Given the description of an element on the screen output the (x, y) to click on. 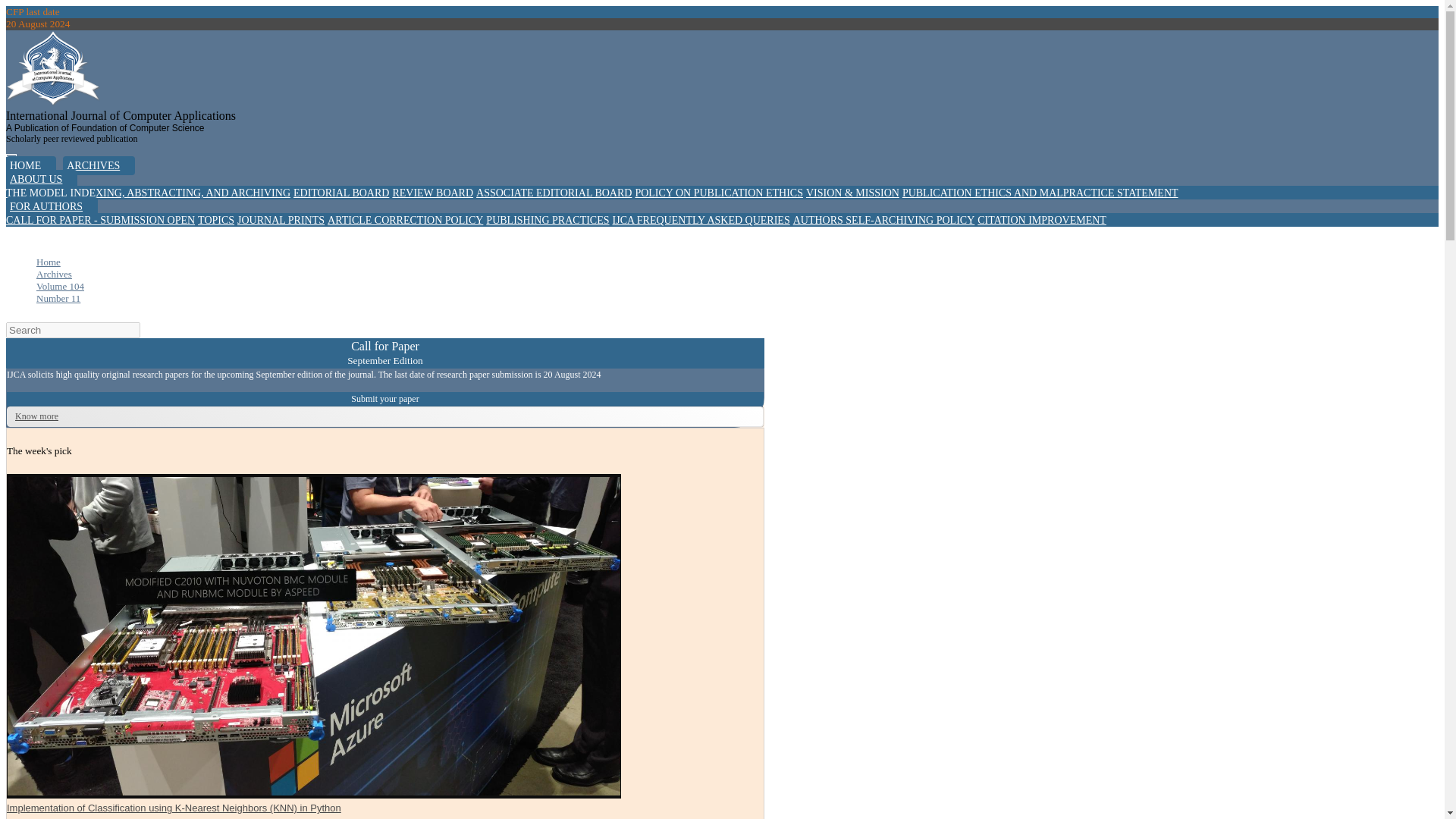
CALL FOR PAPER - SUBMISSION OPEN (100, 220)
Home (48, 261)
ARTICLE CORRECTION POLICY (405, 220)
ABOUT US (41, 179)
Number 11 (58, 297)
THE MODEL (35, 193)
FOR AUTHORS (51, 206)
INDEXING, ABSTRACTING, AND ARCHIVING (179, 193)
TOPICS (216, 220)
PUBLICATION ETHICS AND MALPRACTICE STATEMENT (1039, 193)
